Given the description of an element on the screen output the (x, y) to click on. 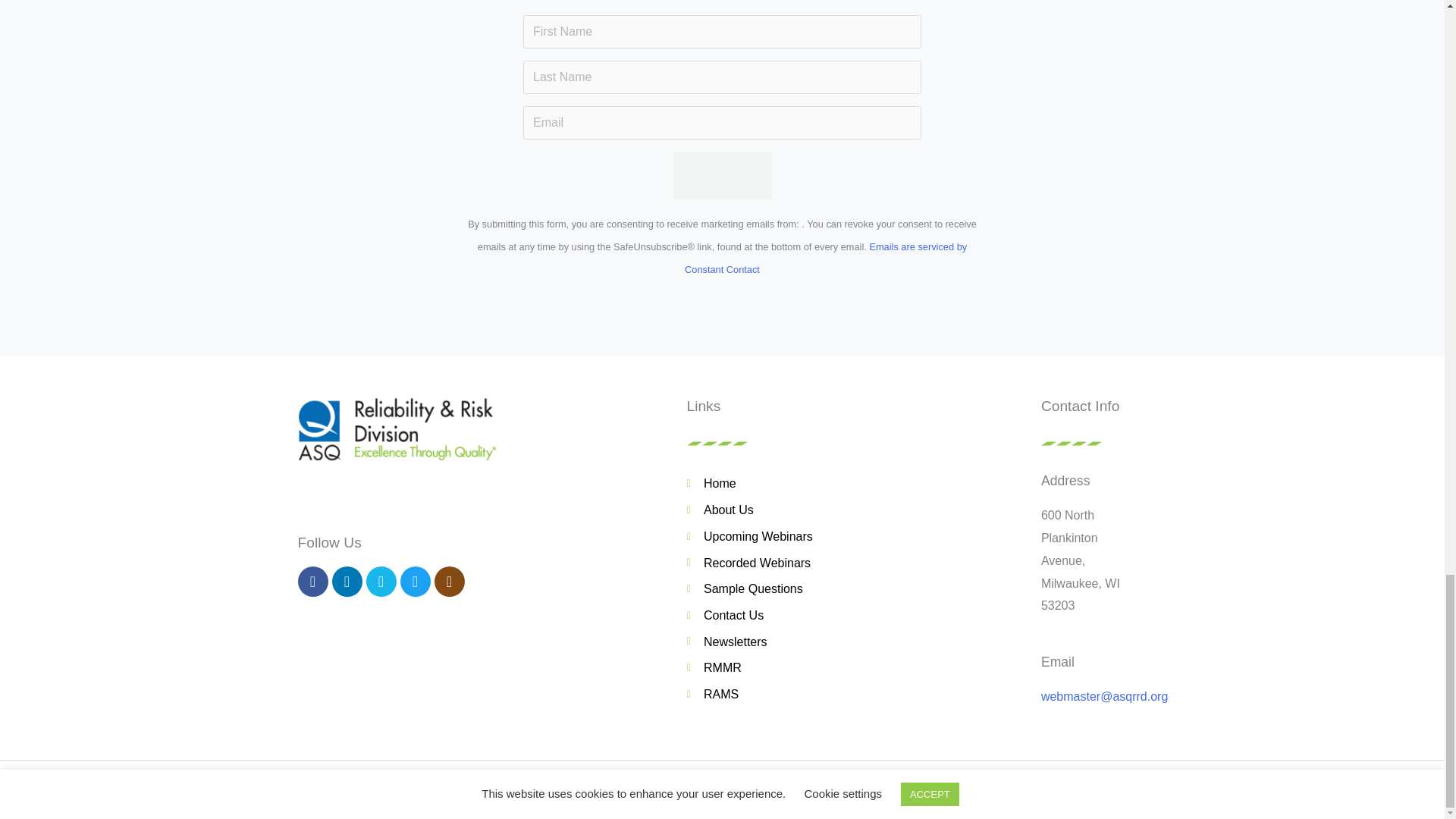
Emails are serviced by Constant Contact (825, 257)
Facebook (312, 581)
Linkedin (346, 581)
Sign up (721, 175)
Sign up (721, 175)
